Given the description of an element on the screen output the (x, y) to click on. 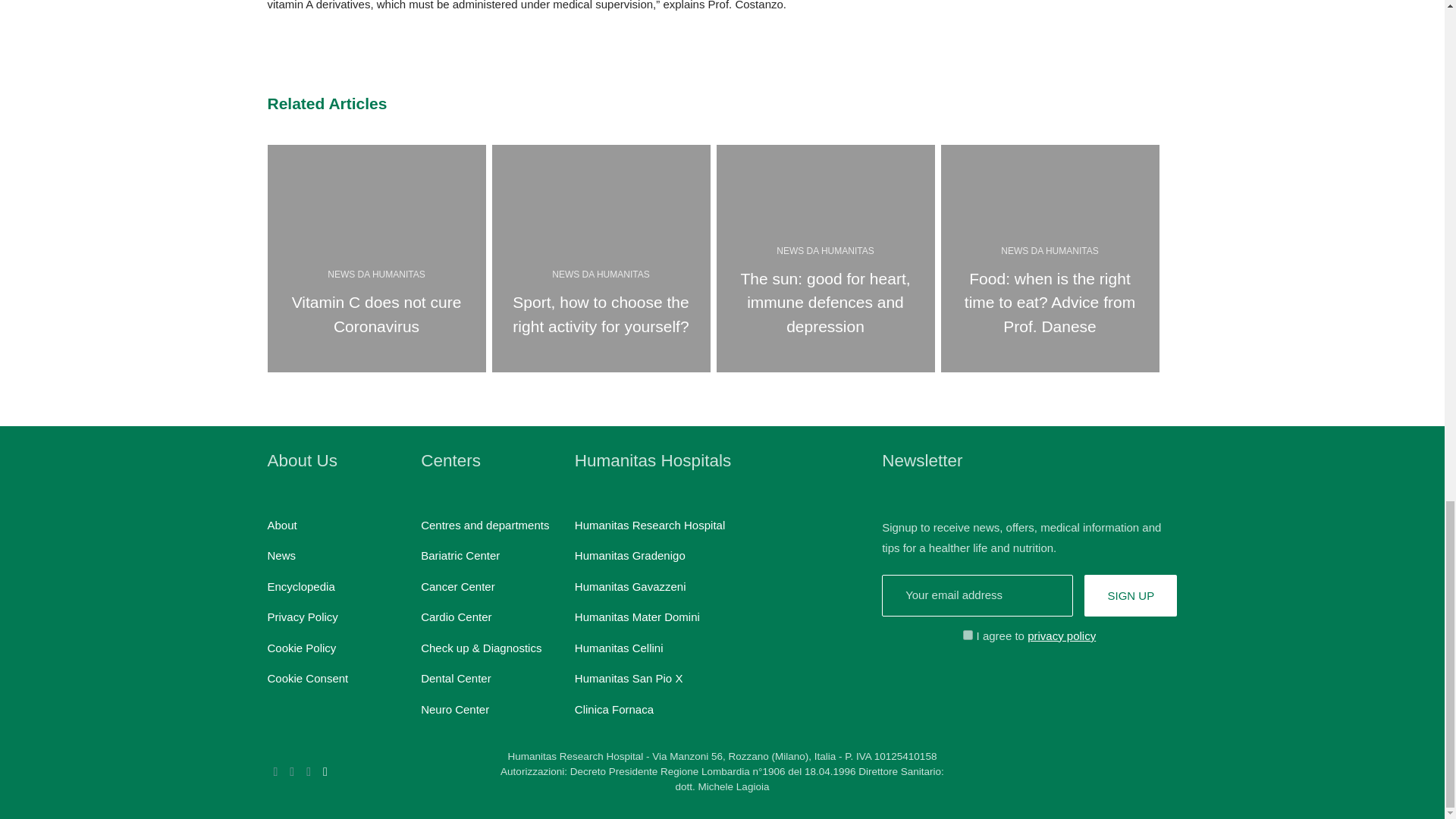
Cookie Policy (301, 647)
Privacy Policy (375, 258)
on (301, 616)
Centres and departments (967, 634)
About (484, 524)
Sign up (281, 524)
News (1130, 595)
Cookie Consent (280, 554)
Encyclopedia (306, 677)
